Given the description of an element on the screen output the (x, y) to click on. 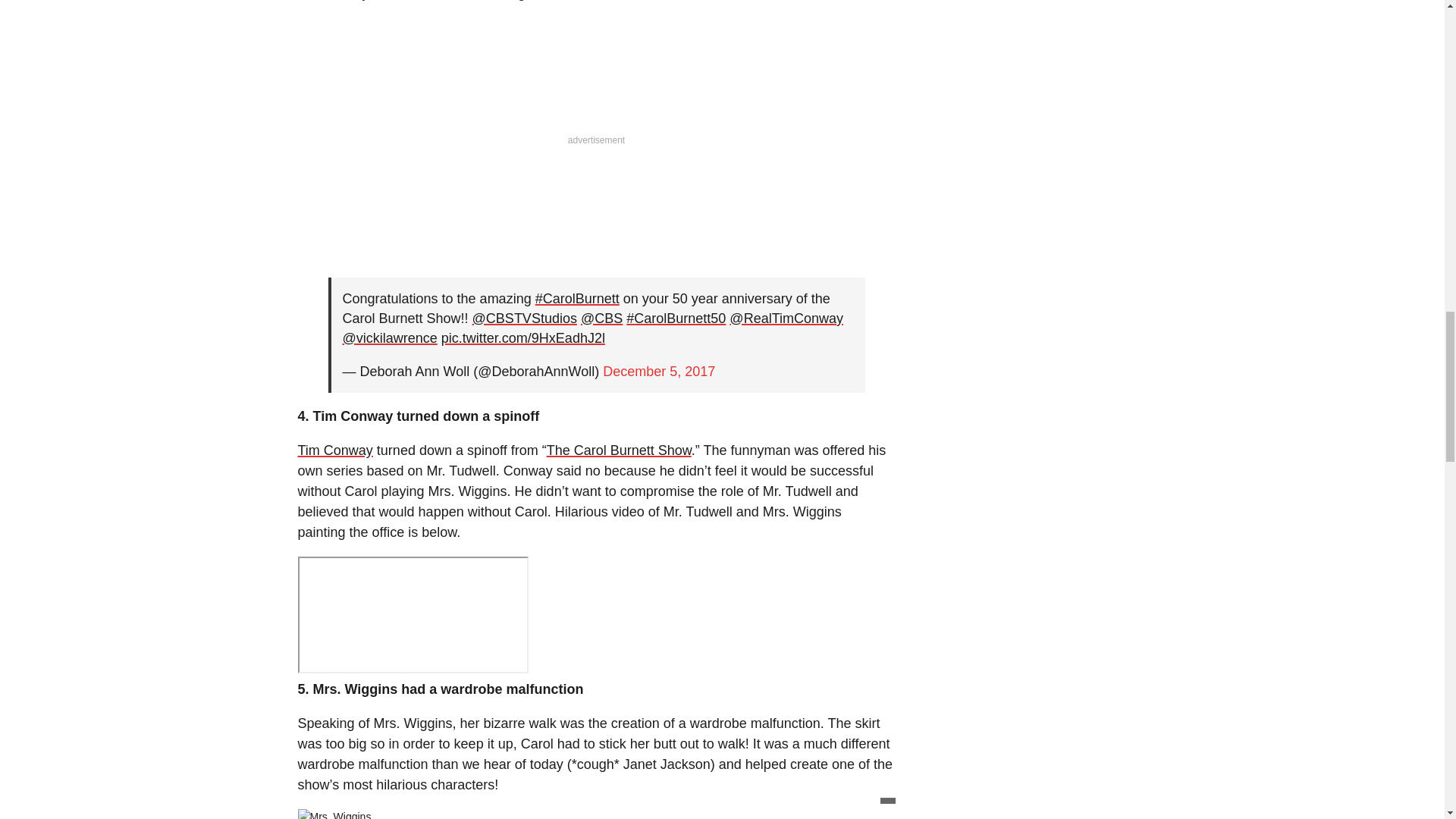
December 5, 2017 (658, 371)
Tim Conway (334, 450)
The Carol Burnett Show (619, 450)
